Given the description of an element on the screen output the (x, y) to click on. 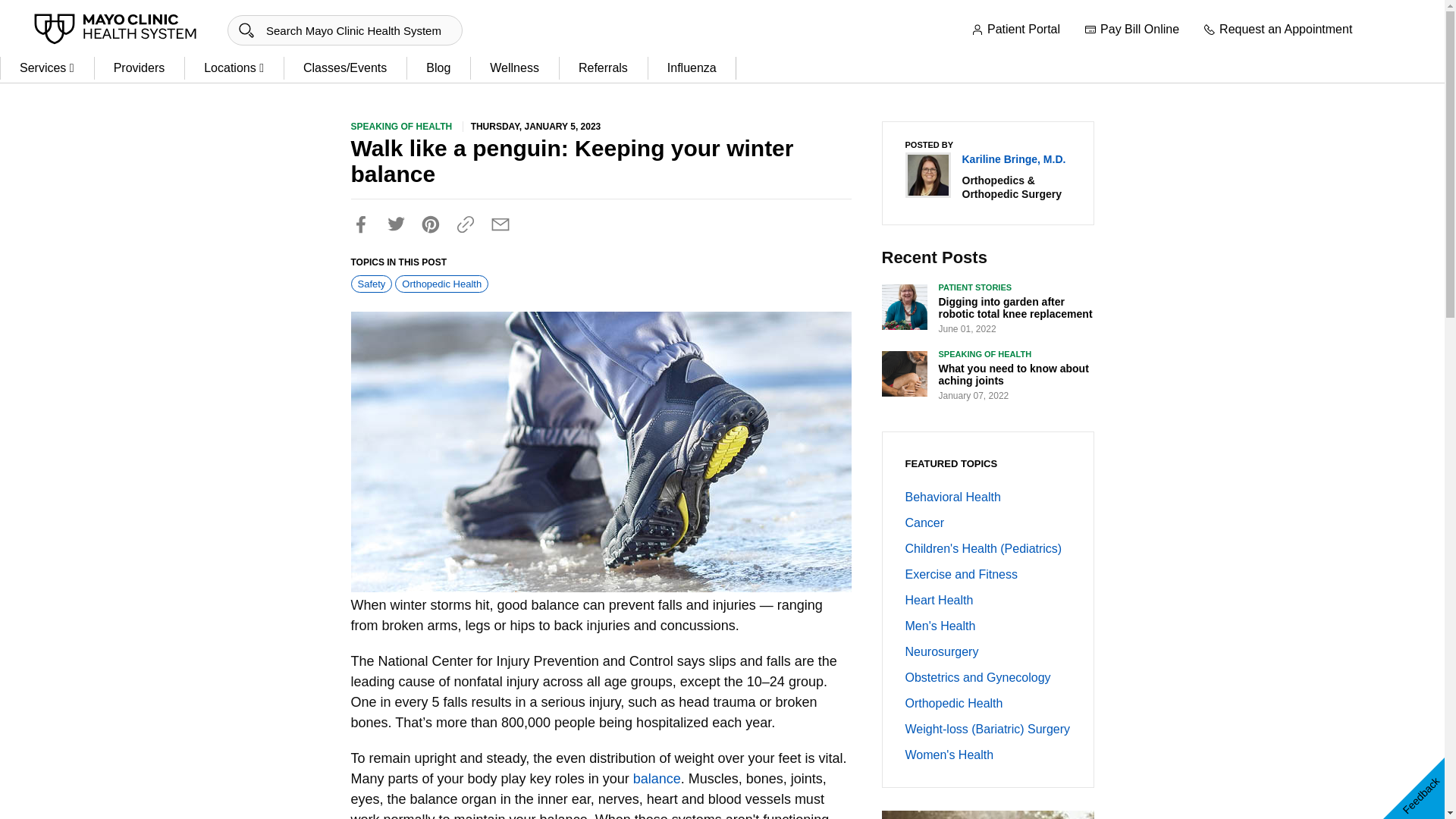
Opens in a new window. (657, 778)
Pay Bill Online (1131, 30)
Providers (139, 68)
Request an Appointment (1278, 30)
Patient Portal (1015, 30)
